Given the description of an element on the screen output the (x, y) to click on. 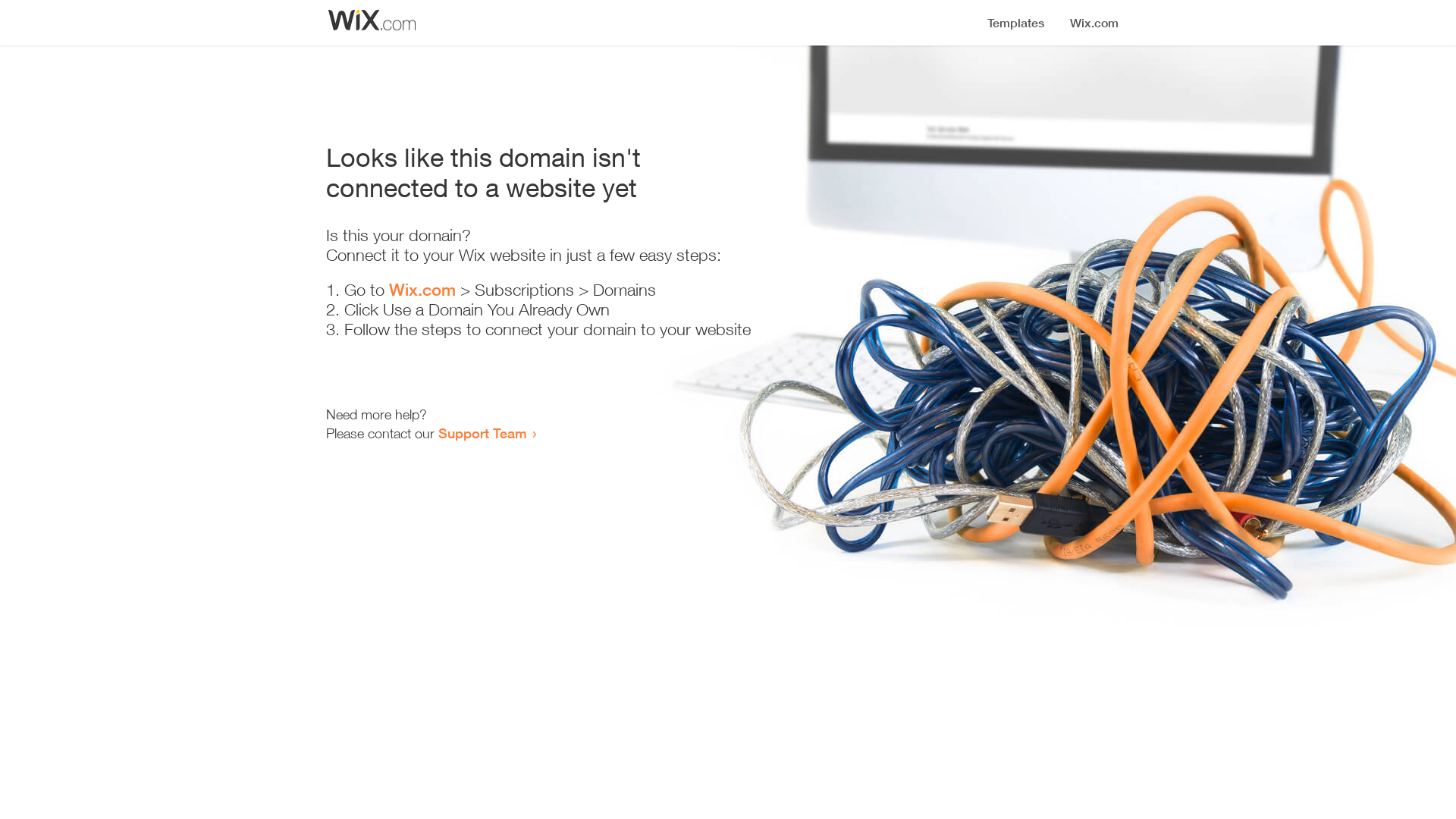
Support Team Element type: text (482, 432)
Wix.com Element type: text (422, 289)
